Given the description of an element on the screen output the (x, y) to click on. 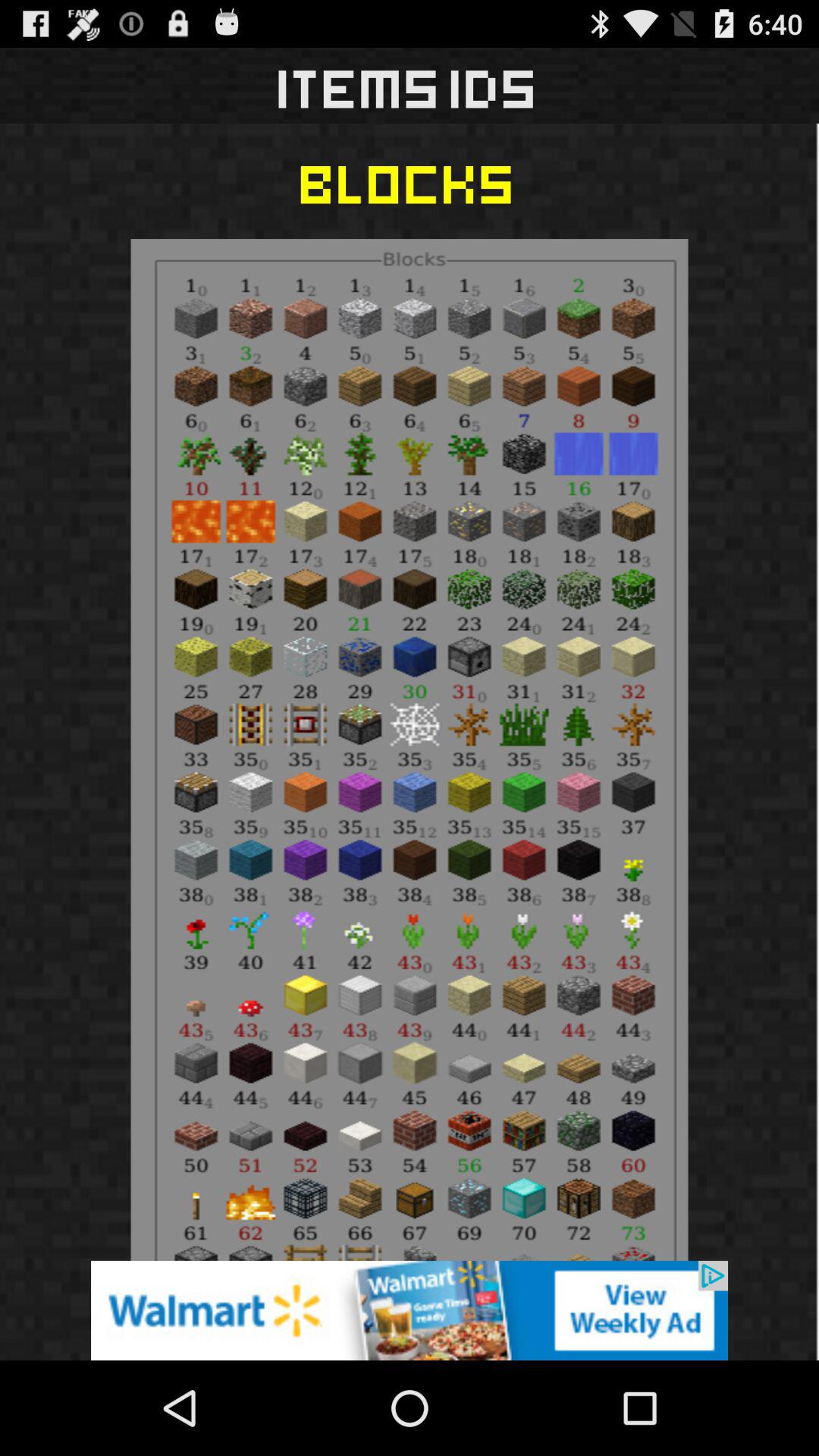
view advertisement (409, 1310)
